Given the description of an element on the screen output the (x, y) to click on. 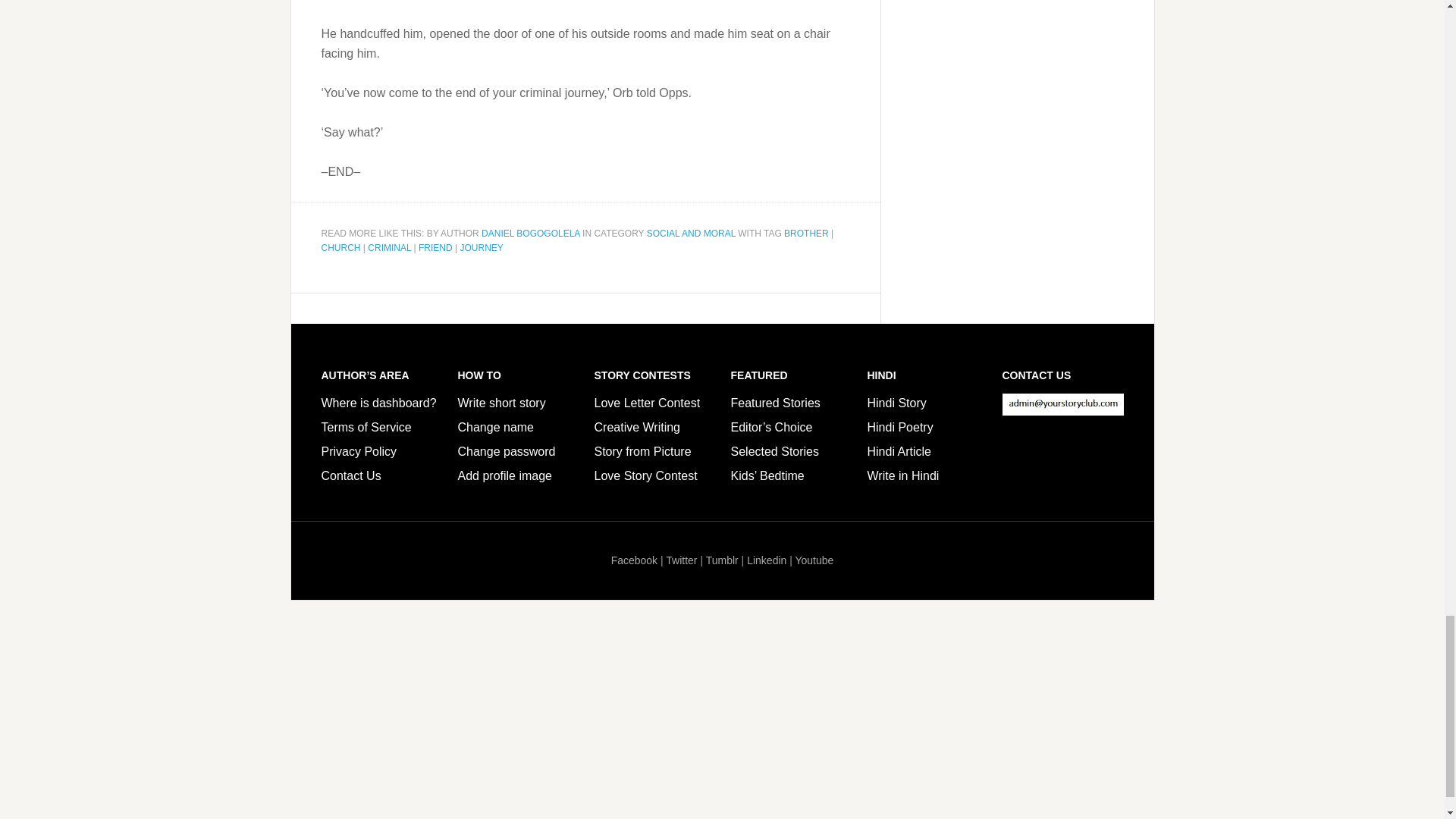
BROTHER (806, 233)
SOCIAL AND MORAL (690, 233)
DANIEL BOGOGOLELA (530, 233)
CRIMINAL (389, 247)
JOURNEY (481, 247)
FRIEND (435, 247)
CHURCH (341, 247)
